Given the description of an element on the screen output the (x, y) to click on. 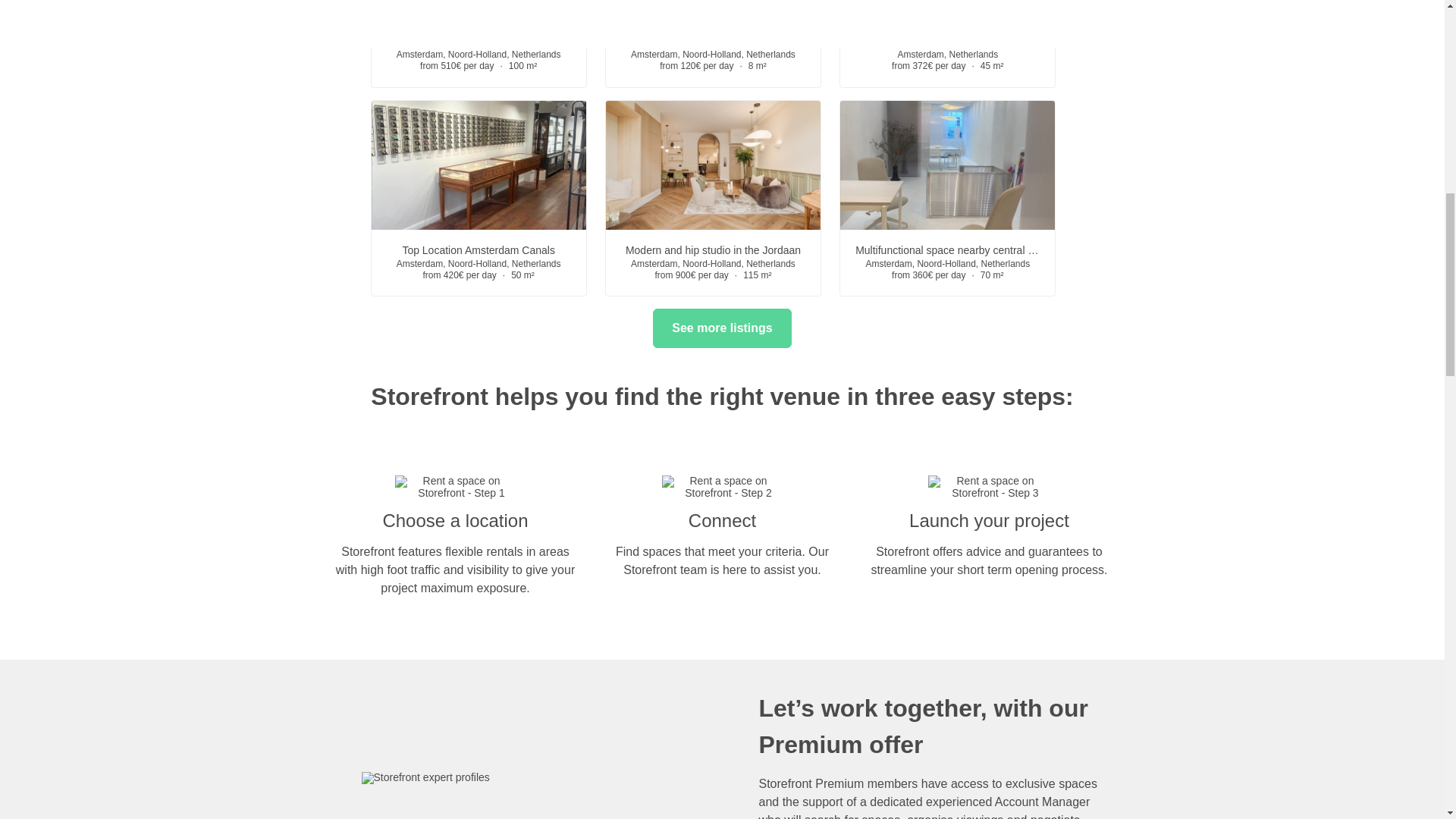
See more listings (722, 328)
